Given the description of an element on the screen output the (x, y) to click on. 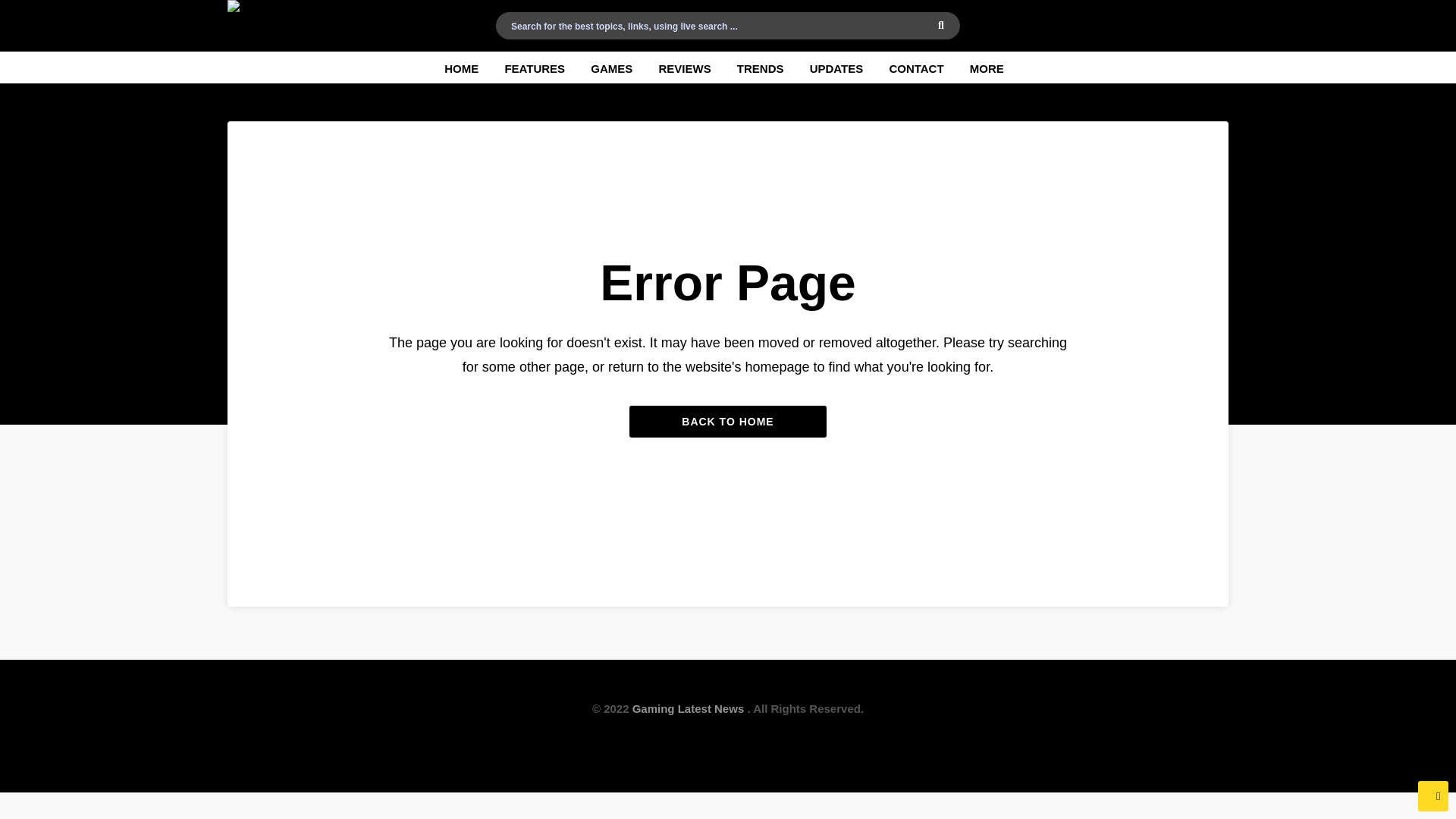
HOME (461, 66)
TRENDS (760, 66)
GAMES (611, 66)
REVIEWS (683, 66)
BACK TO HOME (727, 421)
MORE (986, 66)
CONTACT (915, 66)
Gaming Latest News (687, 707)
FEATURES (534, 66)
UPDATES (836, 66)
